Given the description of an element on the screen output the (x, y) to click on. 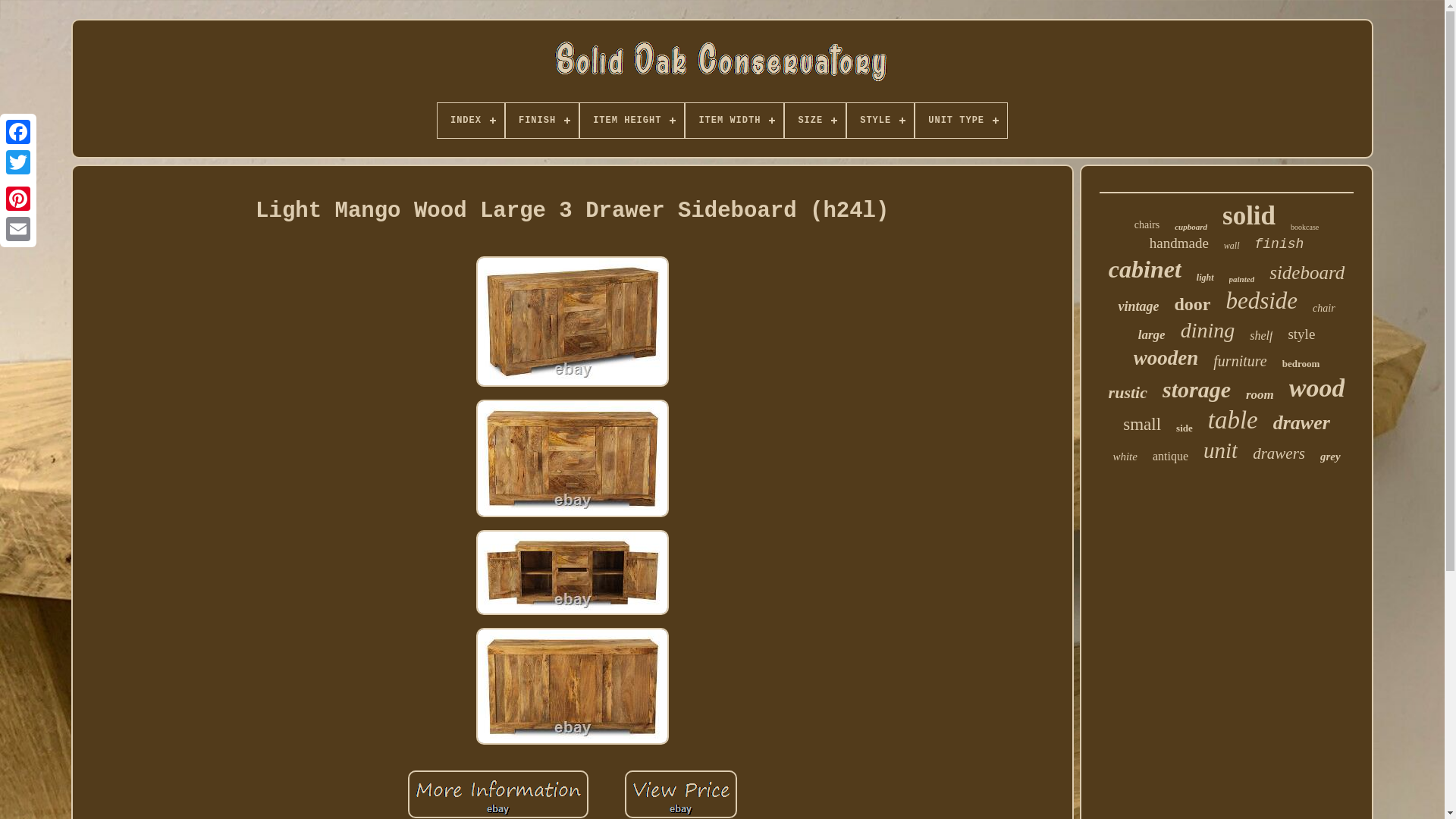
INDEX (470, 120)
ITEM HEIGHT (631, 120)
FINISH (541, 120)
